Given the description of an element on the screen output the (x, y) to click on. 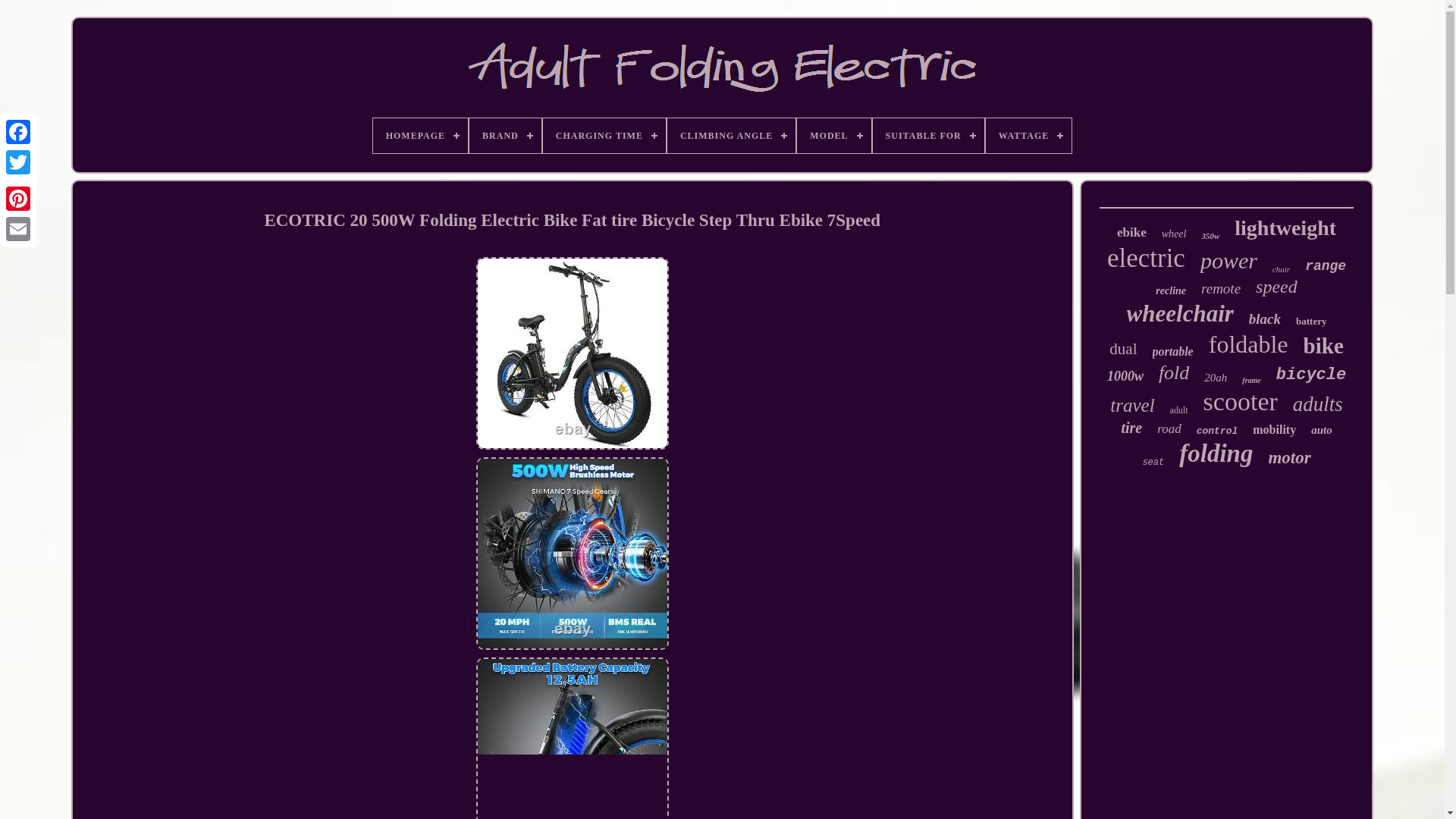
BRAND (504, 135)
HOMEPAGE (419, 135)
CHARGING TIME (604, 135)
